Given the description of an element on the screen output the (x, y) to click on. 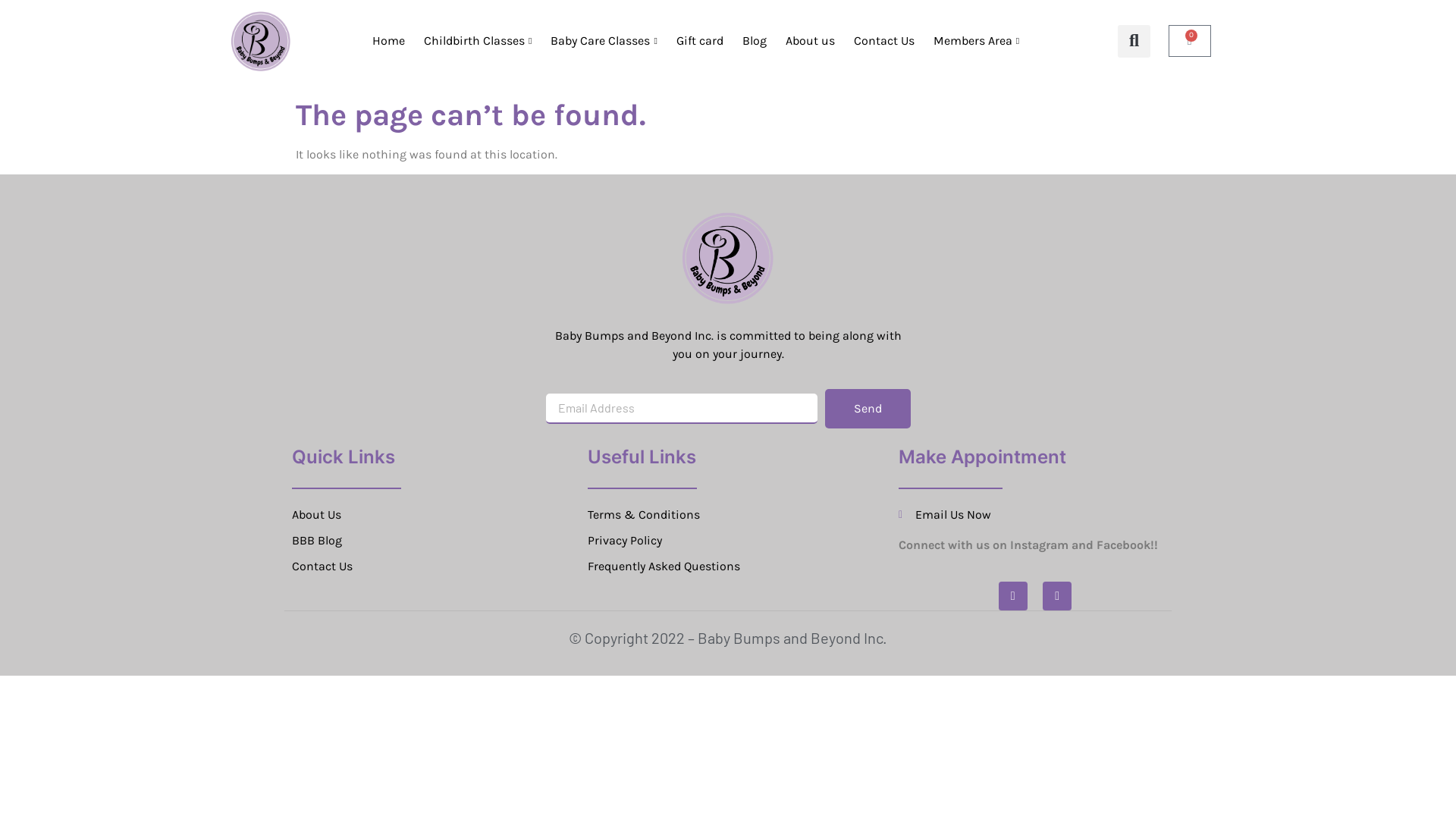
BBB Blog Element type: text (435, 540)
0 Element type: text (1189, 40)
Blog Element type: text (752, 40)
Email Us Now Element type: text (1034, 514)
Childbirth Classes Element type: text (475, 40)
Send Element type: text (867, 408)
About Us Element type: text (435, 514)
Contact Us Element type: text (435, 566)
Privacy Policy Element type: text (731, 540)
Contact Us Element type: text (882, 40)
Terms & Conditions Element type: text (731, 514)
About us Element type: text (808, 40)
Frequently Asked Questions Element type: text (731, 566)
Home Element type: text (386, 40)
Members Area Element type: text (974, 40)
Baby Care Classes Element type: text (601, 40)
Gift card Element type: text (698, 40)
